Given the description of an element on the screen output the (x, y) to click on. 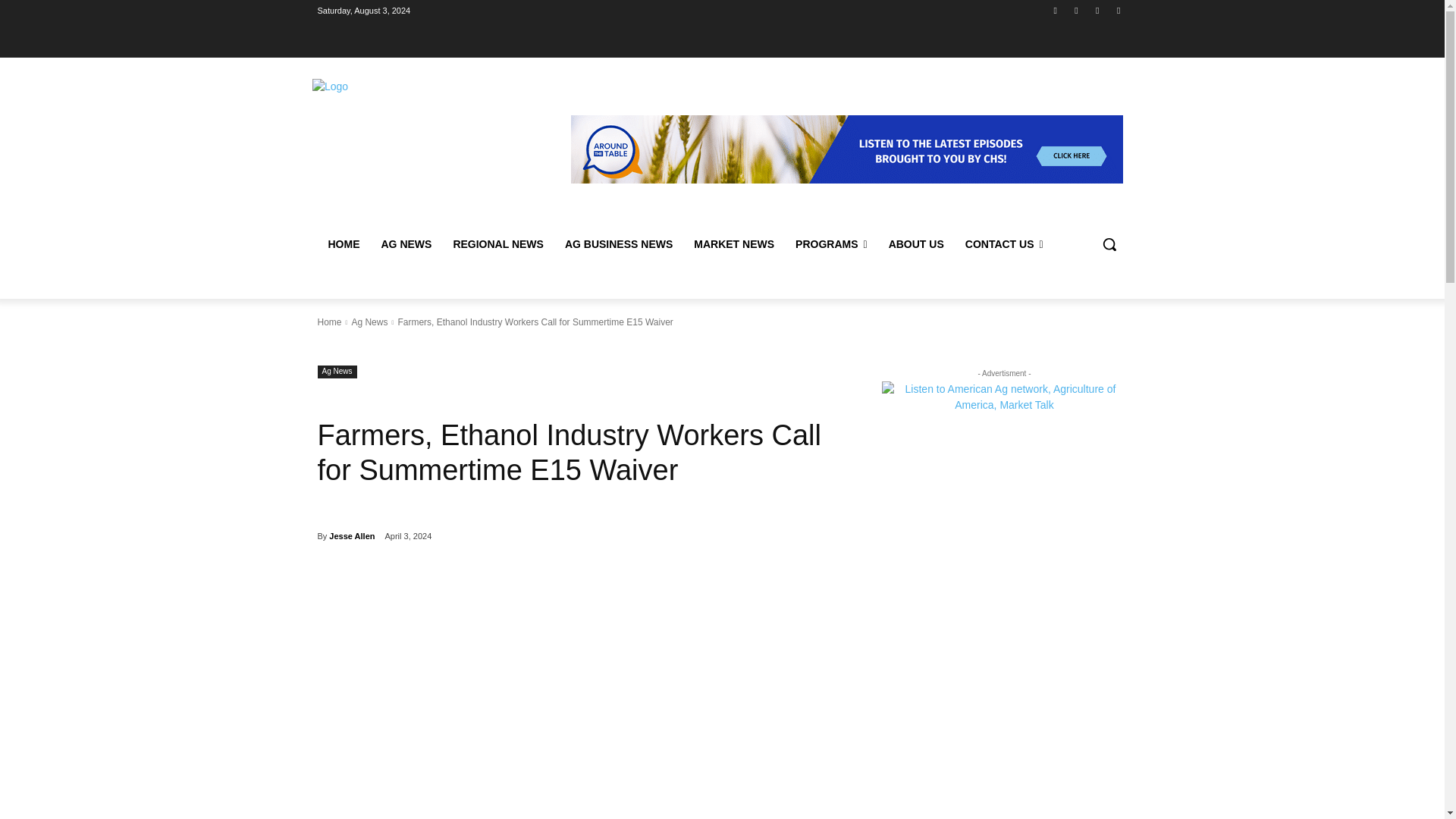
ABOUT US (916, 244)
Instagram (1075, 9)
MARKET NEWS (733, 244)
AG NEWS (405, 244)
Facebook (1055, 9)
REGIONAL NEWS (498, 244)
Twitter (1097, 9)
View all posts in Ag News (368, 321)
CONTACT US (1004, 244)
Youtube (1117, 9)
PROGRAMS (830, 244)
AG BUSINESS NEWS (618, 244)
HOME (343, 244)
